Given the description of an element on the screen output the (x, y) to click on. 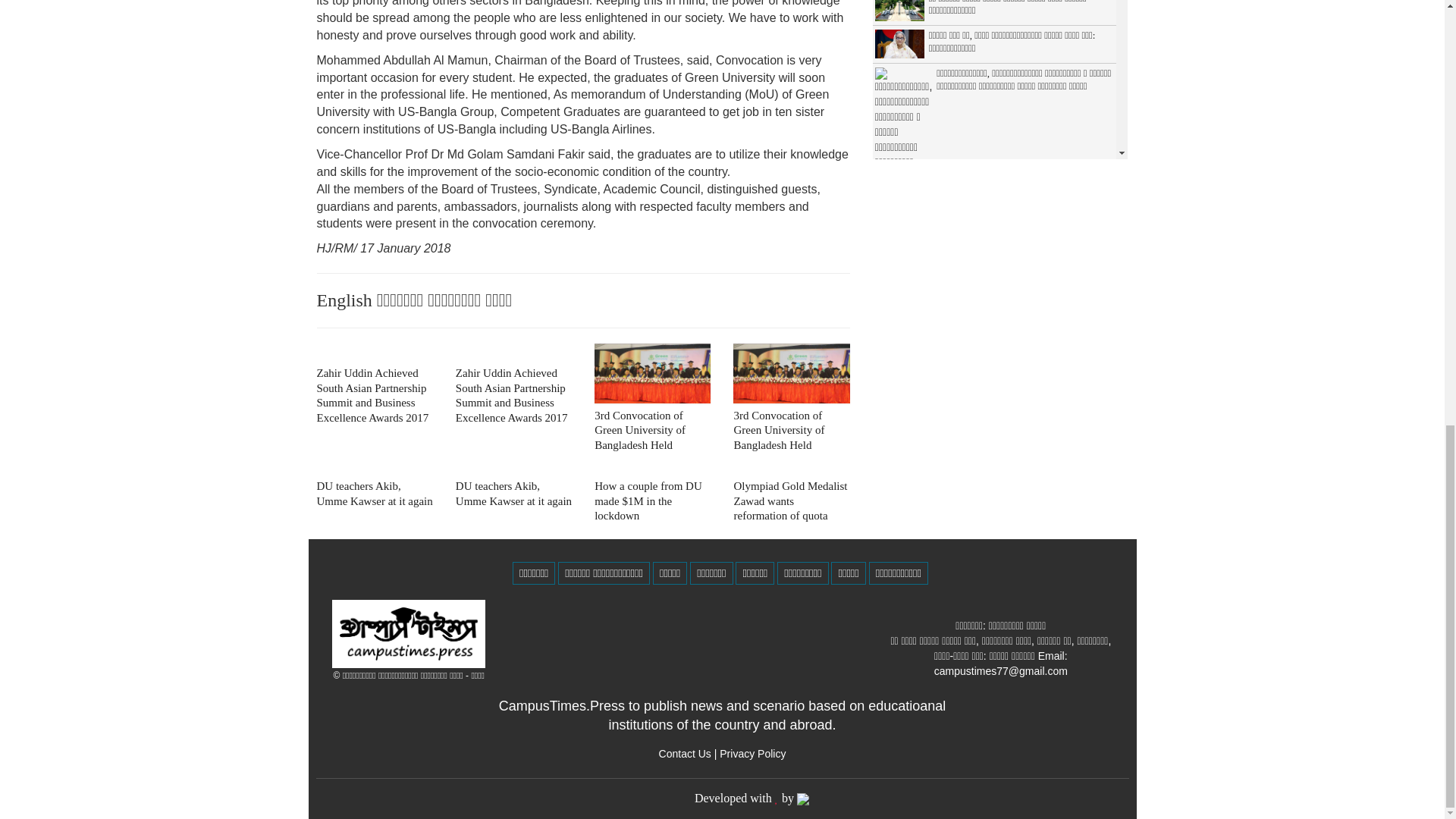
Twitter (752, 753)
Contact (685, 753)
